Given the description of an element on the screen output the (x, y) to click on. 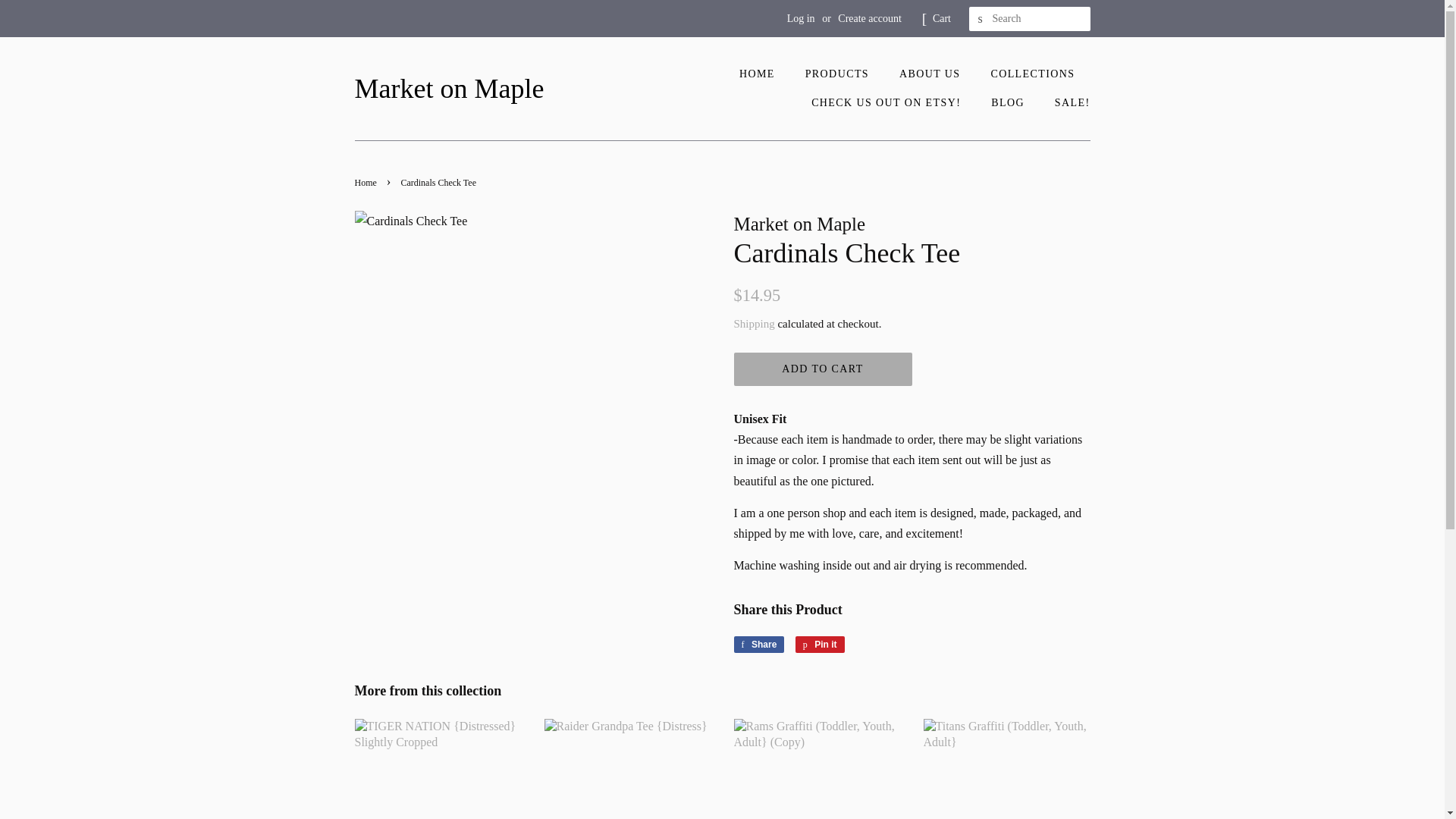
Market on Maple (449, 88)
ADD TO CART (822, 368)
Shipping (753, 323)
Create account (869, 18)
HOME (764, 73)
ABOUT US (931, 73)
Home (367, 182)
CHECK US OUT ON ETSY! (887, 102)
COLLECTIONS (758, 644)
BLOG (1033, 73)
SALE! (1009, 102)
Log in (1066, 102)
Back to the frontpage (801, 18)
